Given the description of an element on the screen output the (x, y) to click on. 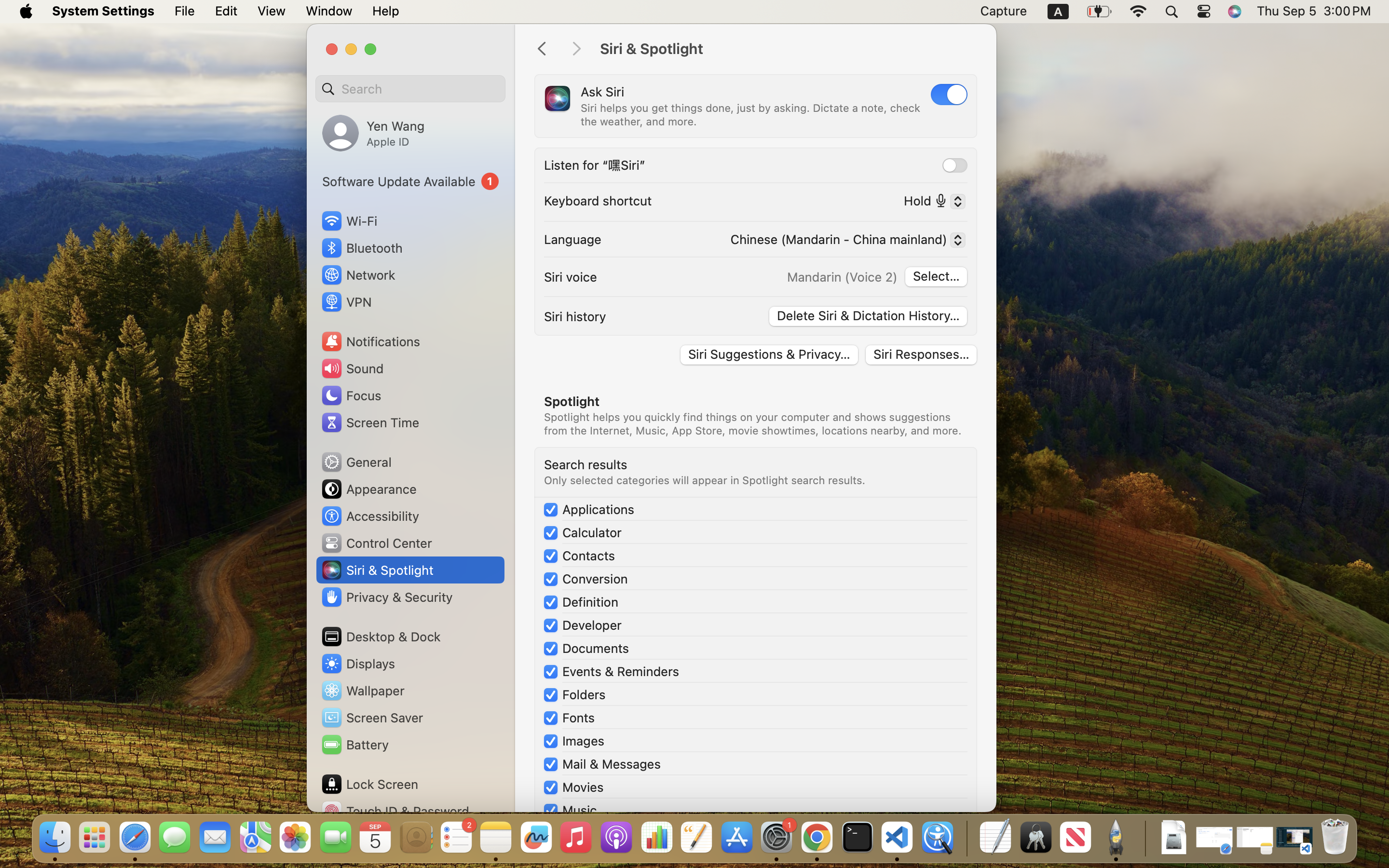
Bluetooth Element type: AXStaticText (361, 247)
Mandarin (Voice 2) Element type: AXStaticText (842, 276)
General Element type: AXStaticText (355, 461)
